Given the description of an element on the screen output the (x, y) to click on. 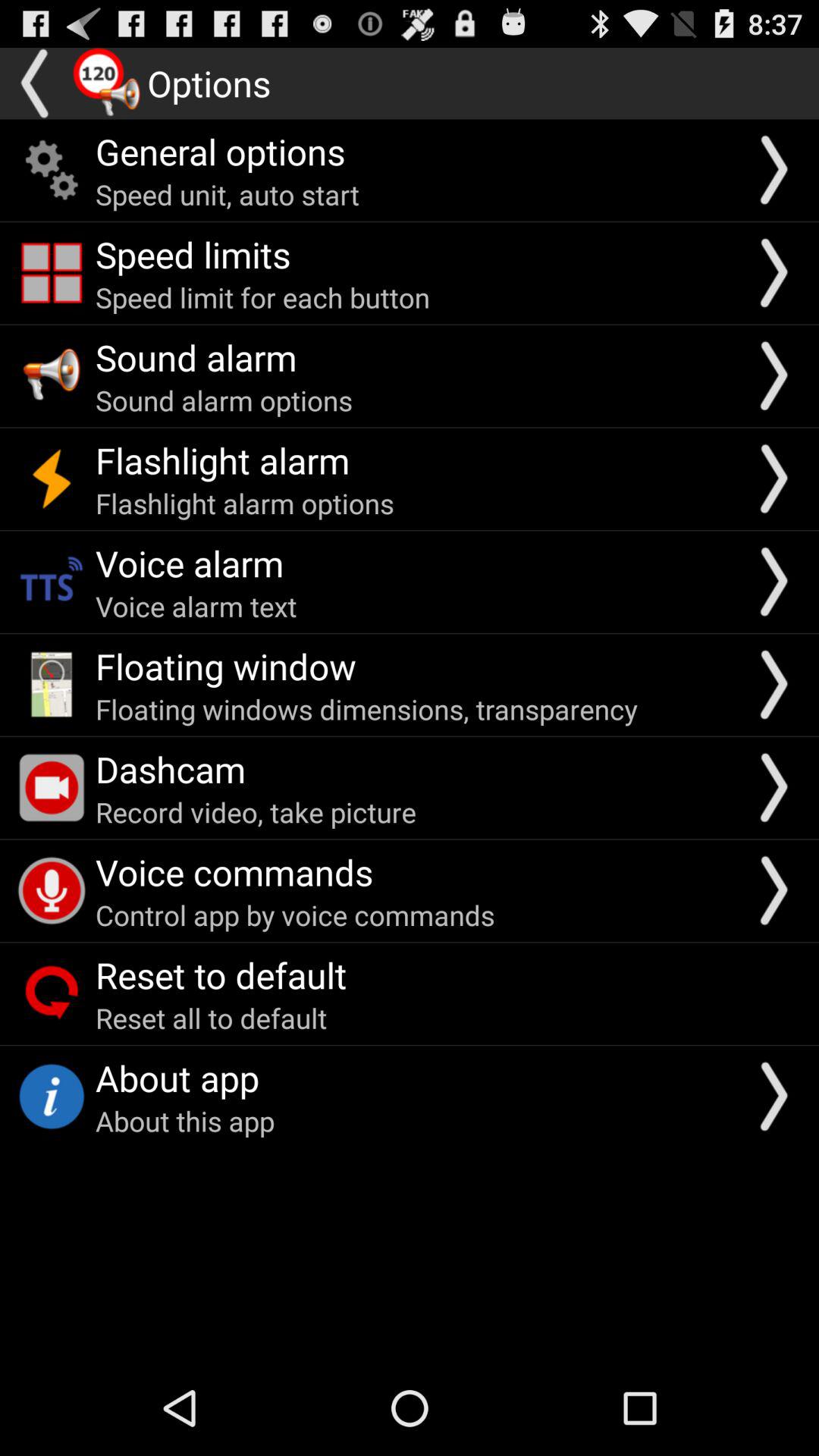
press general options icon (220, 151)
